Given the description of an element on the screen output the (x, y) to click on. 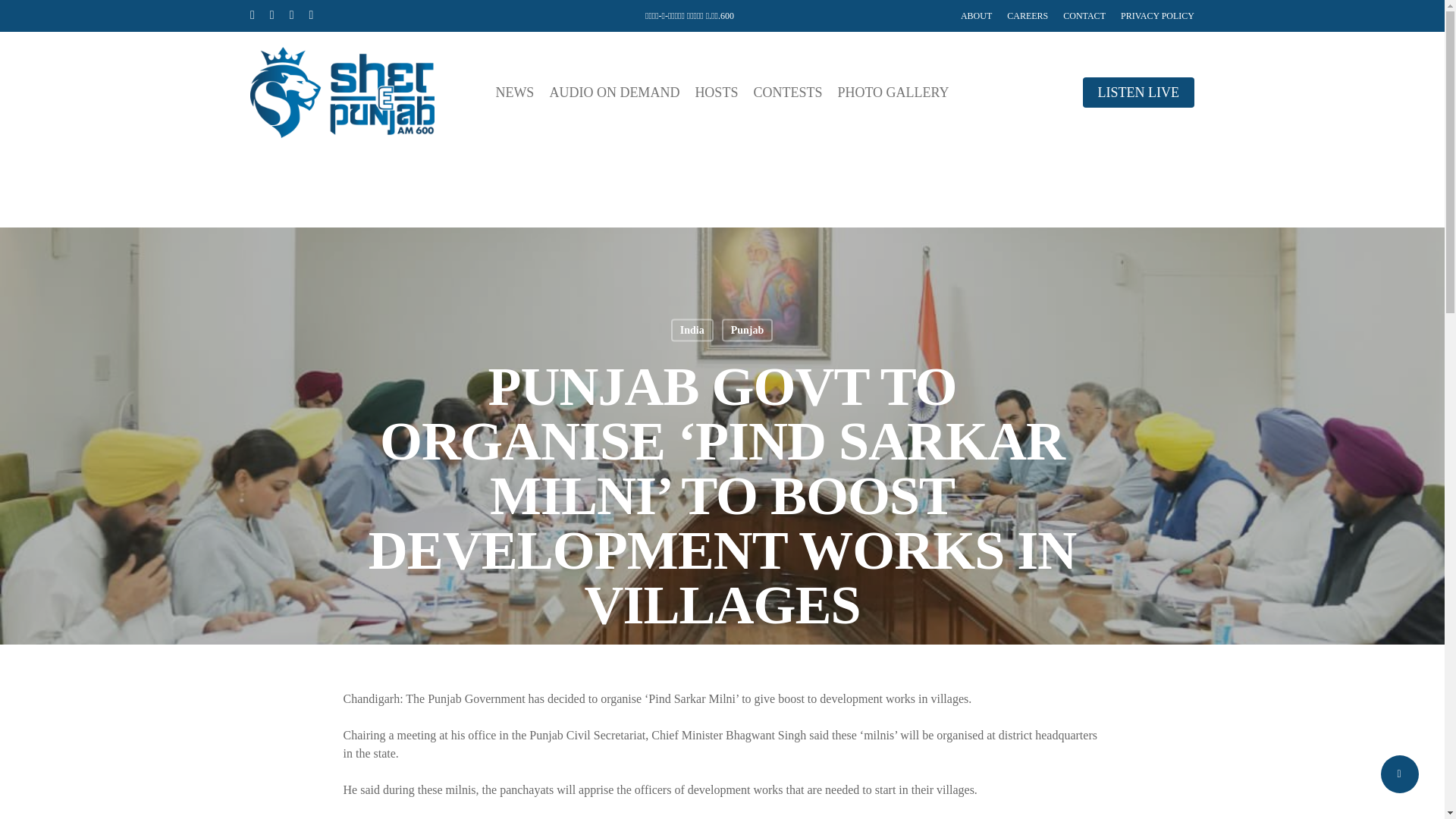
AUDIO ON DEMAND (613, 92)
CONTACT (1083, 15)
NEWS (514, 92)
PRIVACY POLICY (1157, 15)
Punjab (747, 329)
ABOUT (975, 15)
LISTEN LIVE (1138, 92)
PHOTO GALLERY (893, 92)
CONTESTS (787, 92)
